Given the description of an element on the screen output the (x, y) to click on. 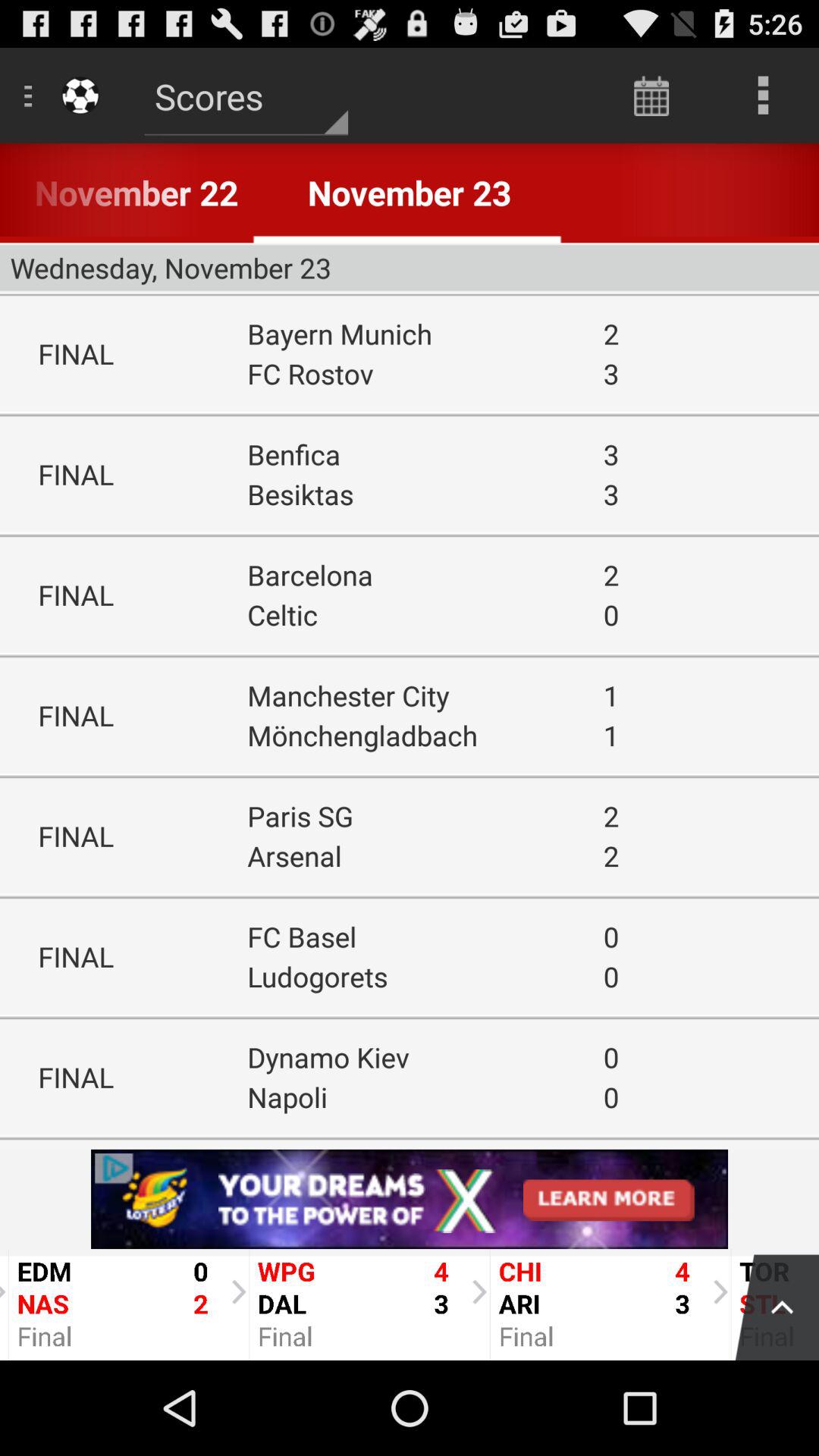
go to top of page (769, 1304)
